Given the description of an element on the screen output the (x, y) to click on. 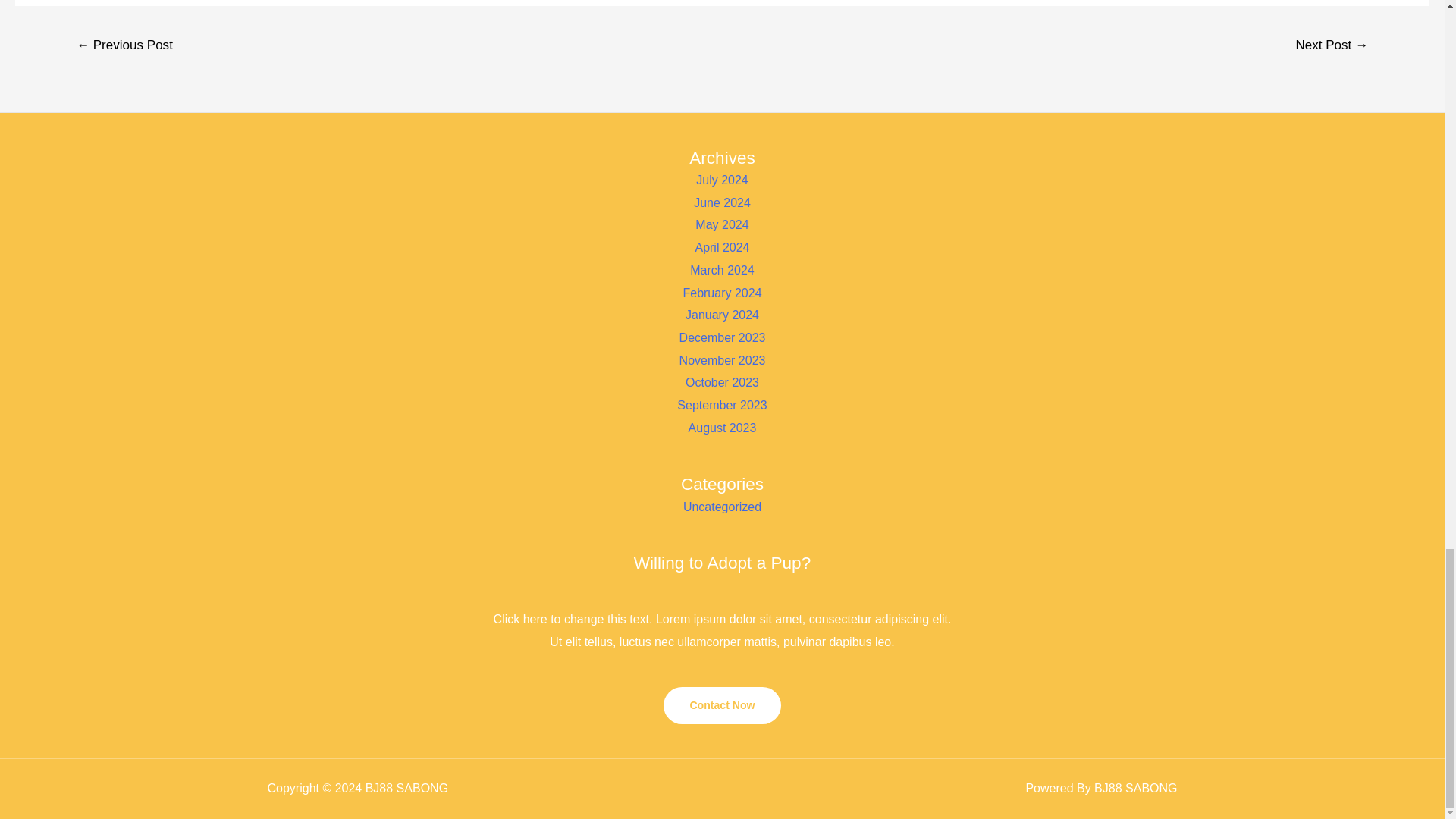
Uncategorized (721, 506)
February 2024 (721, 292)
July 2024 (721, 179)
Contact Now (721, 705)
November 2023 (722, 359)
December 2023 (722, 337)
August 2023 (722, 427)
January 2024 (721, 314)
October 2023 (721, 382)
May 2024 (721, 224)
March 2024 (722, 269)
September 2023 (722, 404)
April 2024 (721, 246)
June 2024 (722, 202)
